Given the description of an element on the screen output the (x, y) to click on. 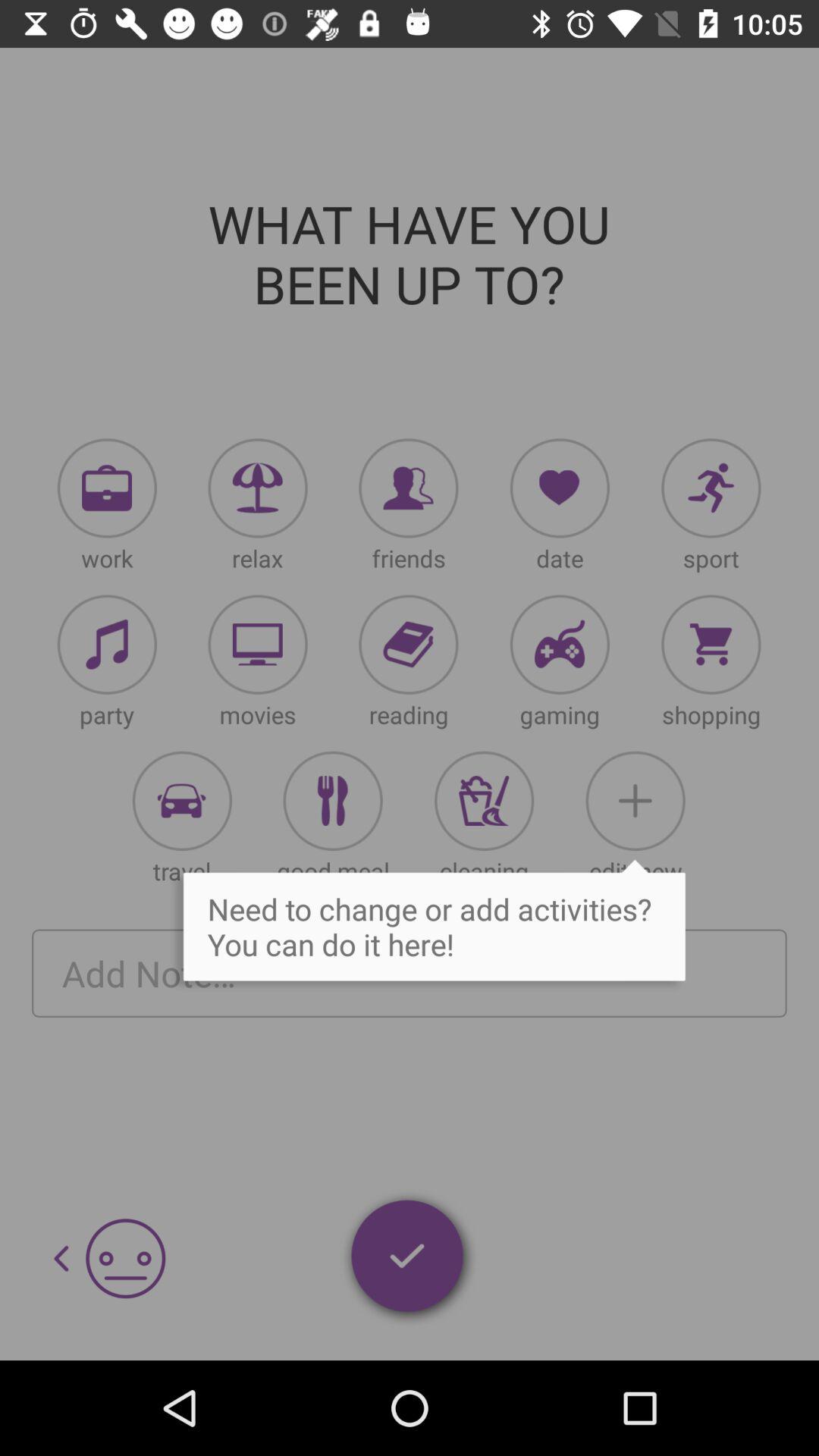
tab to food toggle to restaurants (332, 800)
